Given the description of an element on the screen output the (x, y) to click on. 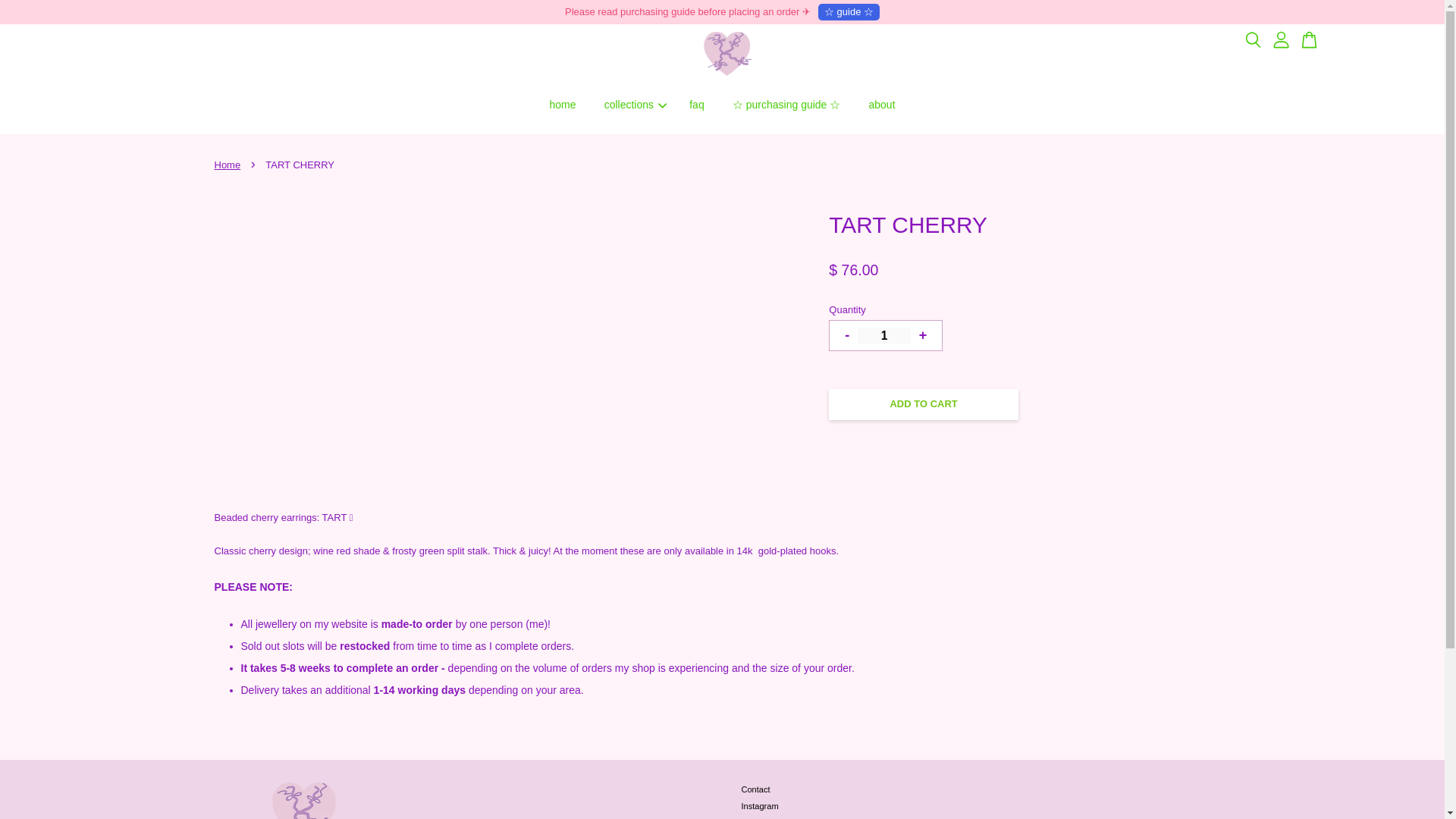
home (562, 104)
faq (697, 104)
collections (632, 104)
1 (884, 335)
about (881, 104)
Back to the homepage (229, 164)
